Given the description of an element on the screen output the (x, y) to click on. 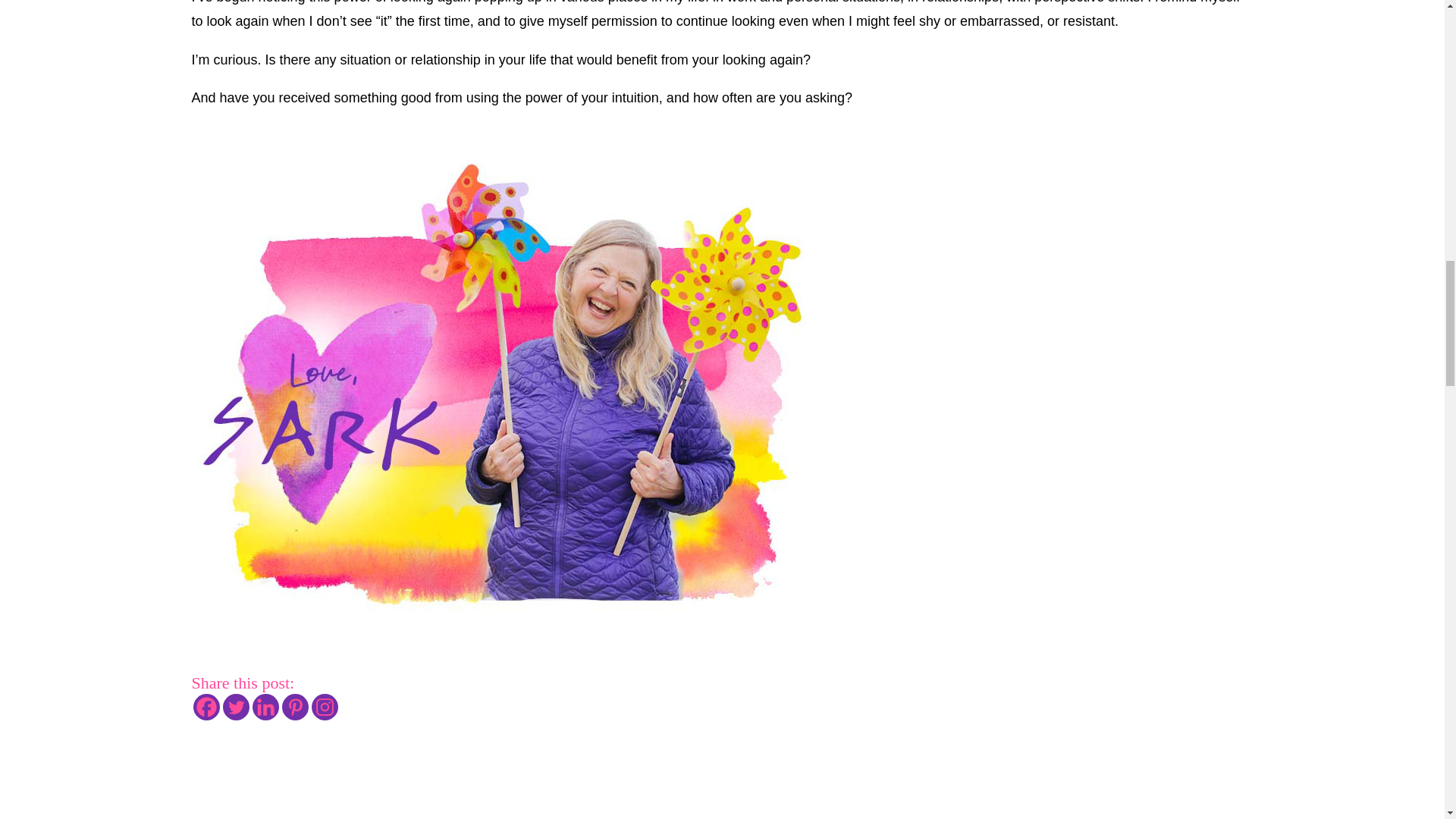
Instagram (324, 706)
Twitter (235, 706)
Linkedin (264, 706)
Pinterest (295, 706)
Facebook (205, 706)
